Given the description of an element on the screen output the (x, y) to click on. 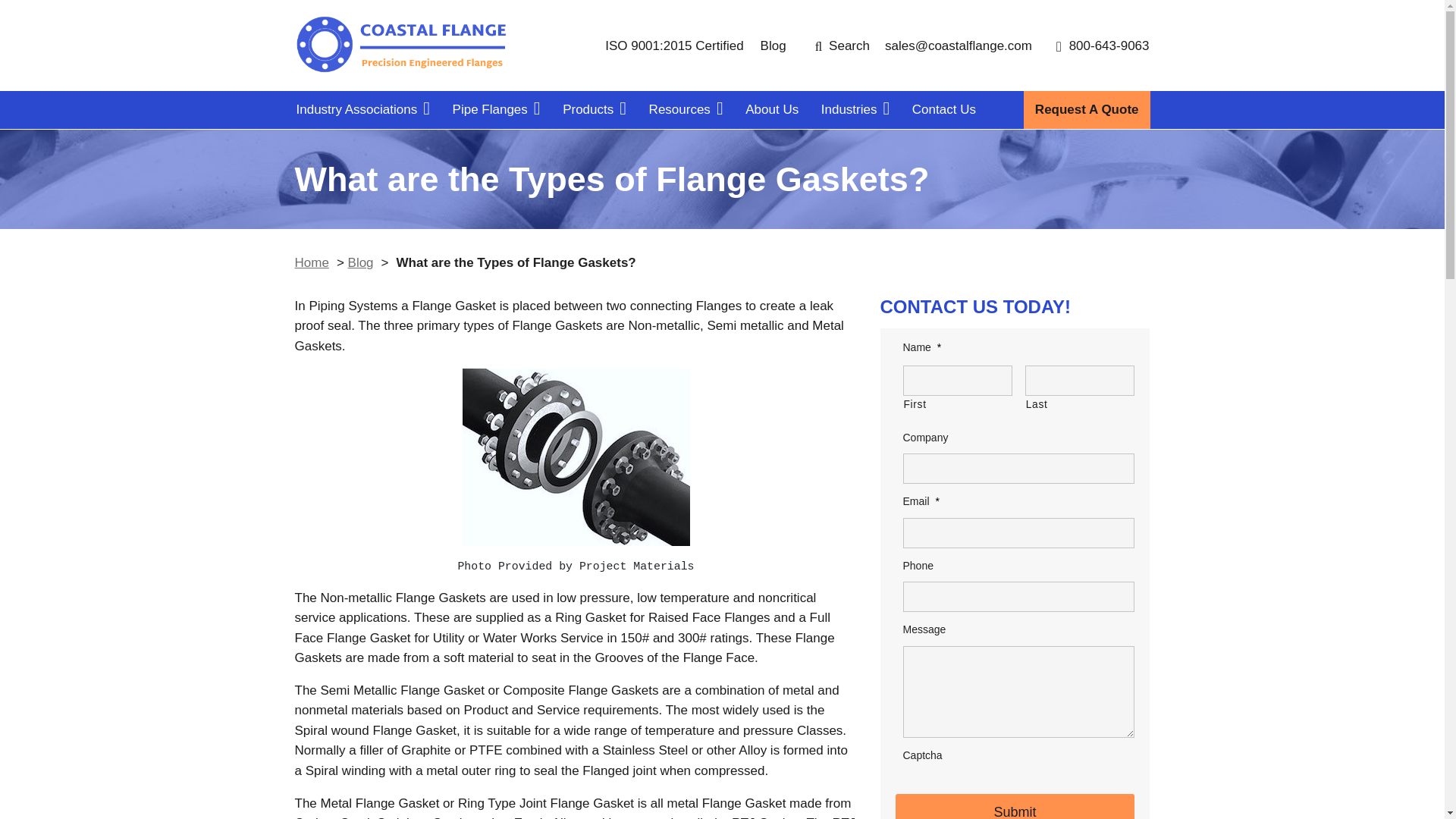
Search (842, 46)
8006439063 (1103, 45)
800-643-9063 (1103, 45)
Submit (1014, 806)
Industry Associations (362, 109)
Blog (773, 46)
Products (593, 109)
Coastal Flange (401, 44)
Industry Associations (362, 109)
Email Us (958, 45)
